Given the description of an element on the screen output the (x, y) to click on. 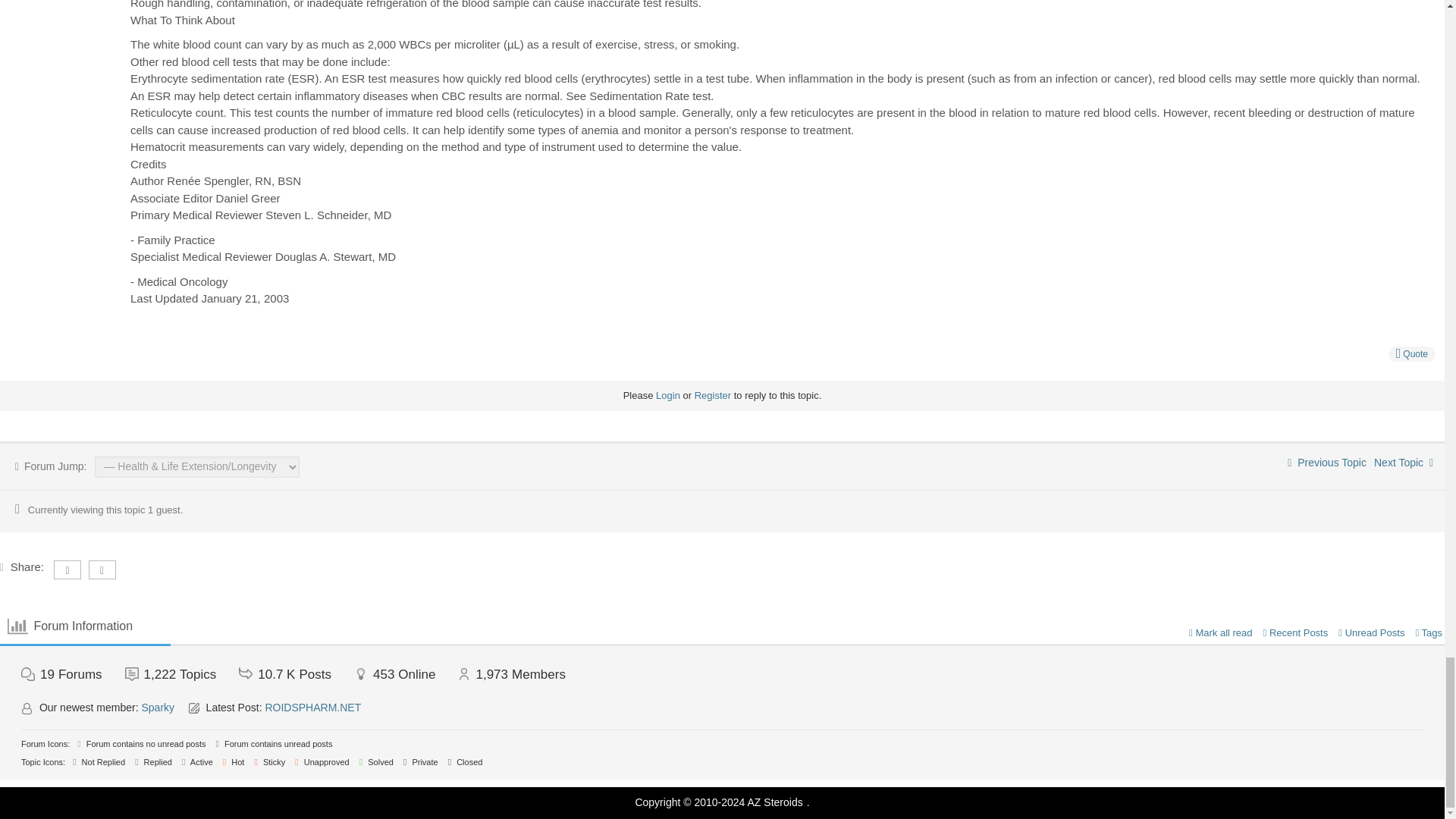
Mark all read (1220, 632)
Next Topic   (1403, 462)
ROIDSPHARM.NET (312, 707)
Sparky (157, 707)
Tags (1428, 632)
Unread Posts (1371, 632)
Recent Posts (1295, 632)
AZ Steroids (775, 802)
Sparky (157, 707)
Register (712, 395)
